Given the description of an element on the screen output the (x, y) to click on. 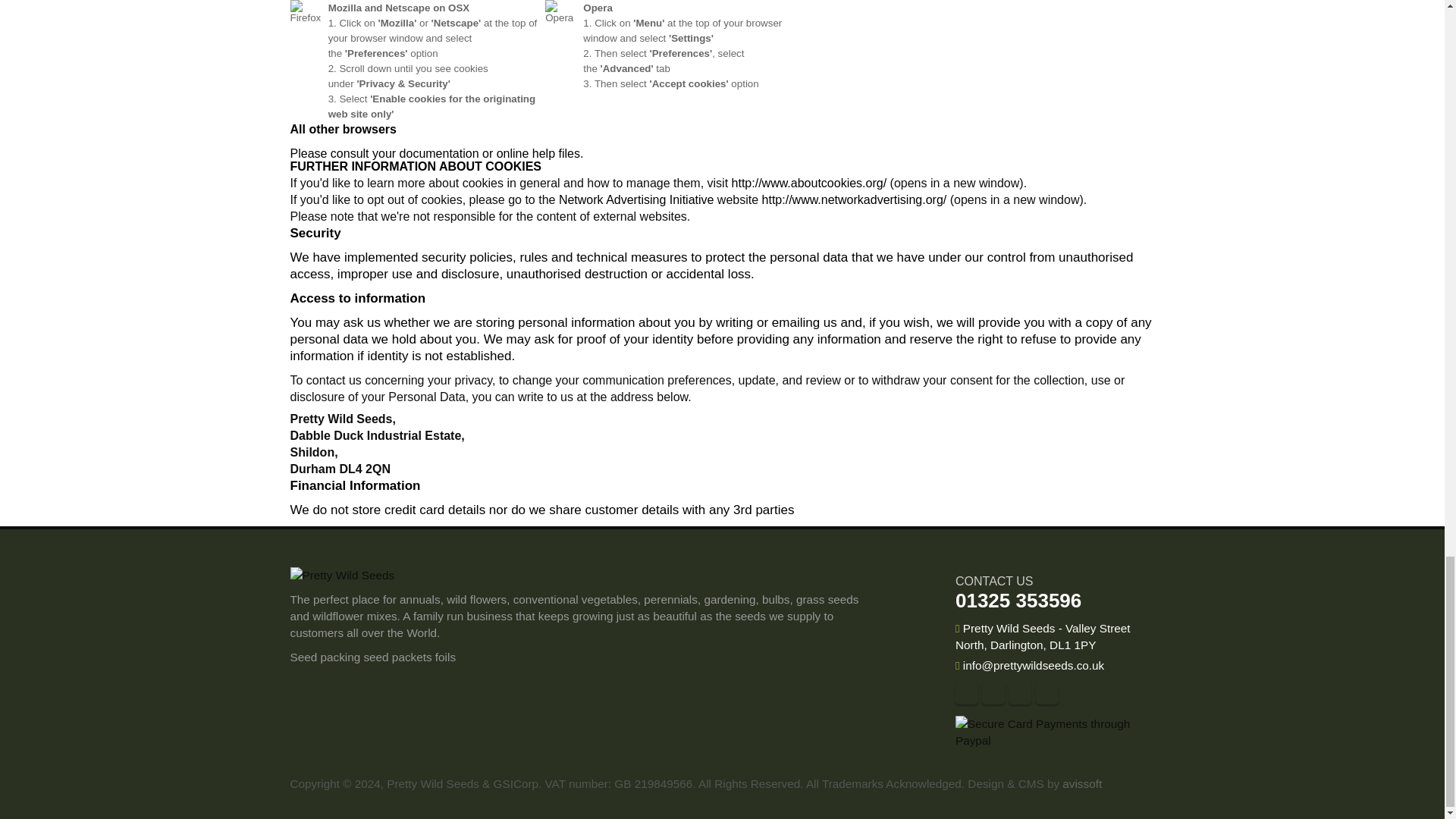
Pinterest (1019, 692)
Facebook (966, 692)
Network Advertising Initiative (636, 199)
Linkedin (1046, 692)
Twitter (992, 692)
